Given the description of an element on the screen output the (x, y) to click on. 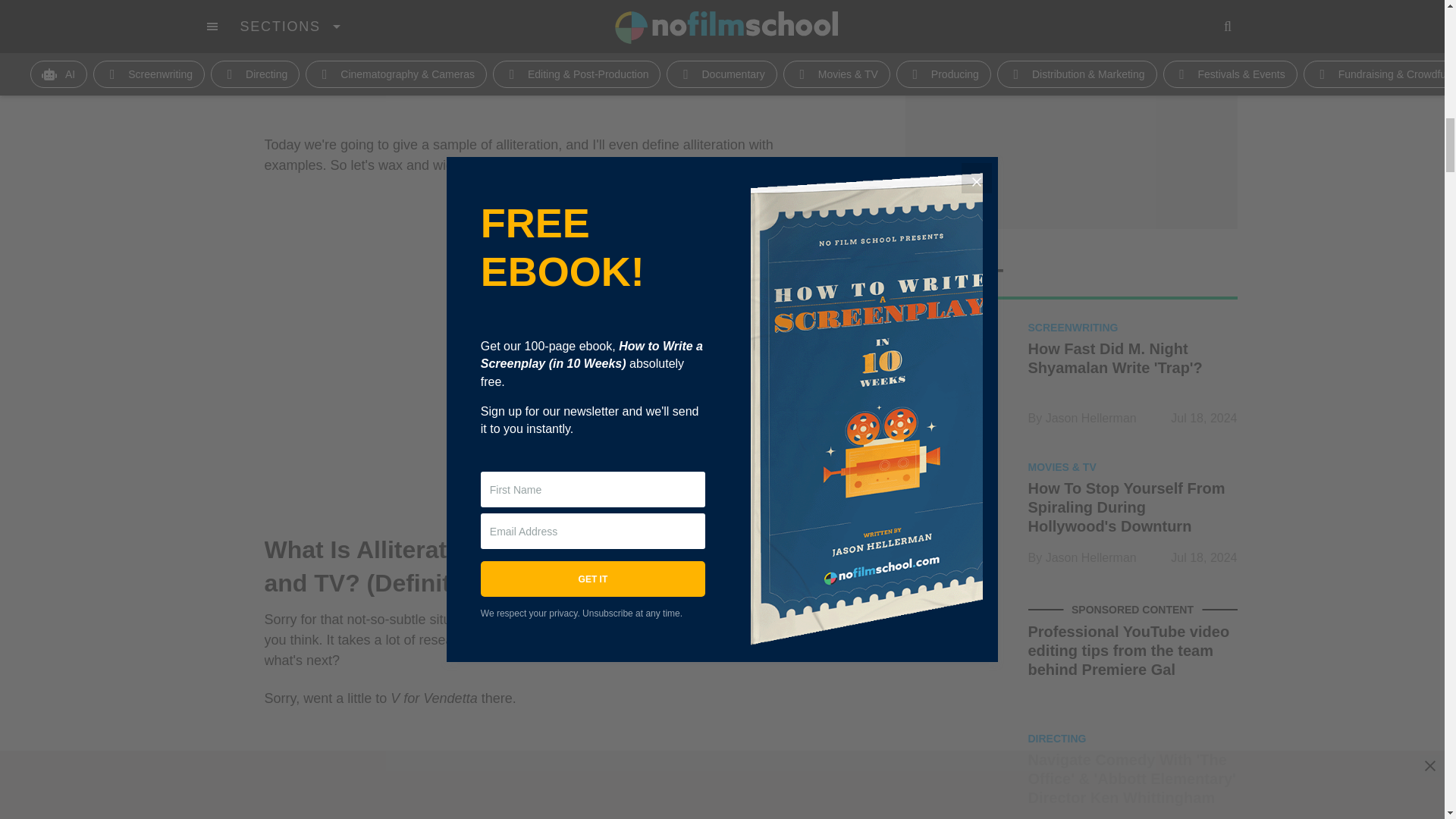
3rd party ad content (548, 58)
3rd party ad content (1070, 114)
